Given the description of an element on the screen output the (x, y) to click on. 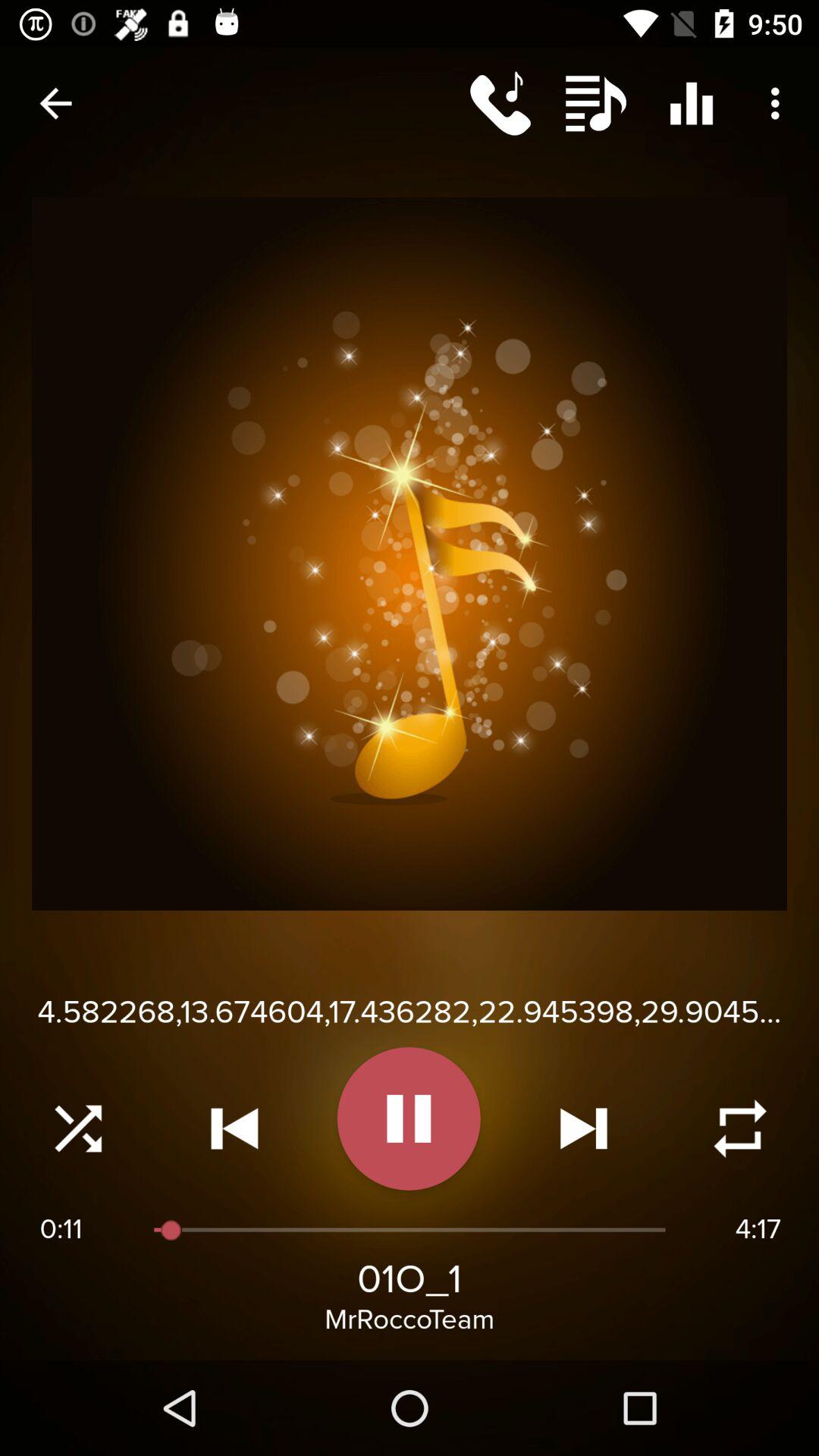
repeat song (740, 1128)
